Given the description of an element on the screen output the (x, y) to click on. 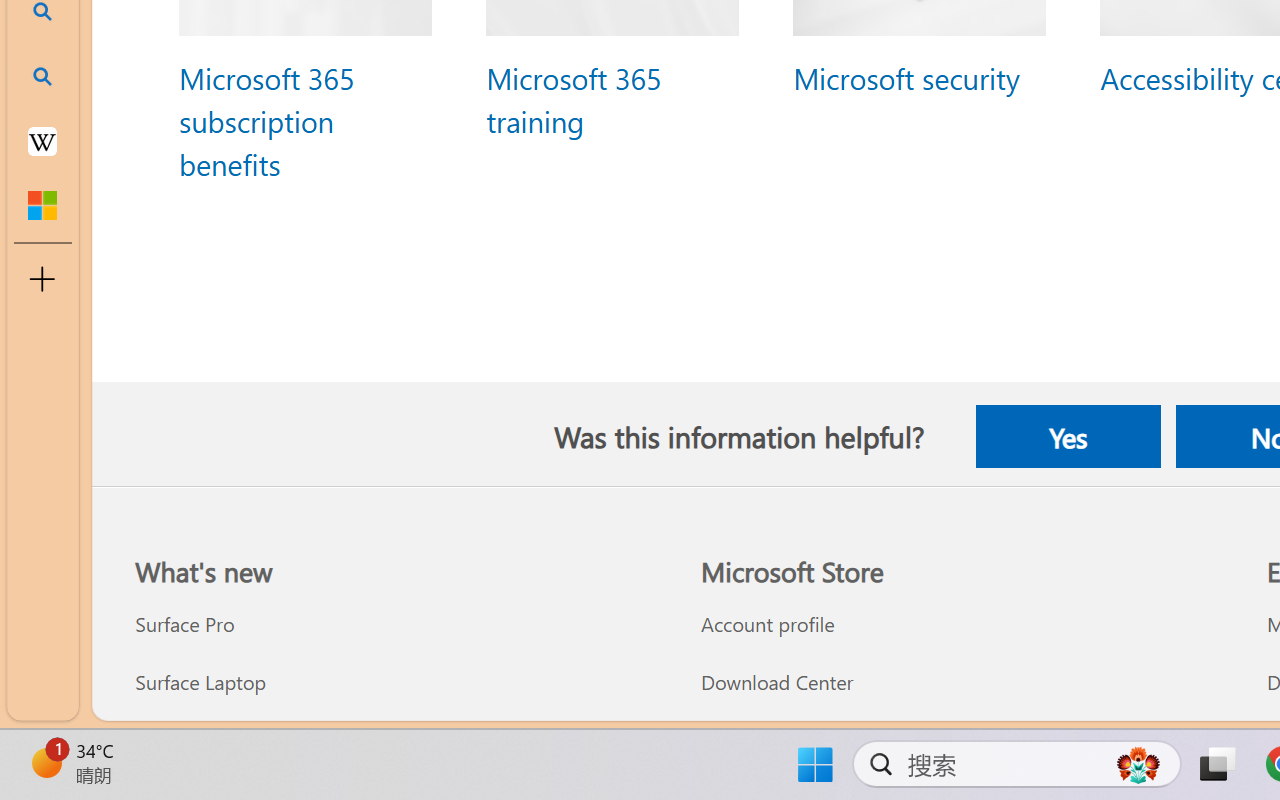
Surface Pro (395, 624)
Surface Laptop What's new (199, 681)
Microsoft Store support (961, 739)
Surface Laptop Studio 2 (395, 739)
Account profile Microsoft Store (767, 624)
Download Center (961, 681)
Surface Pro What's new (184, 624)
Microsoft 365 subscription benefits (265, 120)
Yes (1067, 436)
Microsoft security (905, 76)
Surface Laptop (395, 681)
